Given the description of an element on the screen output the (x, y) to click on. 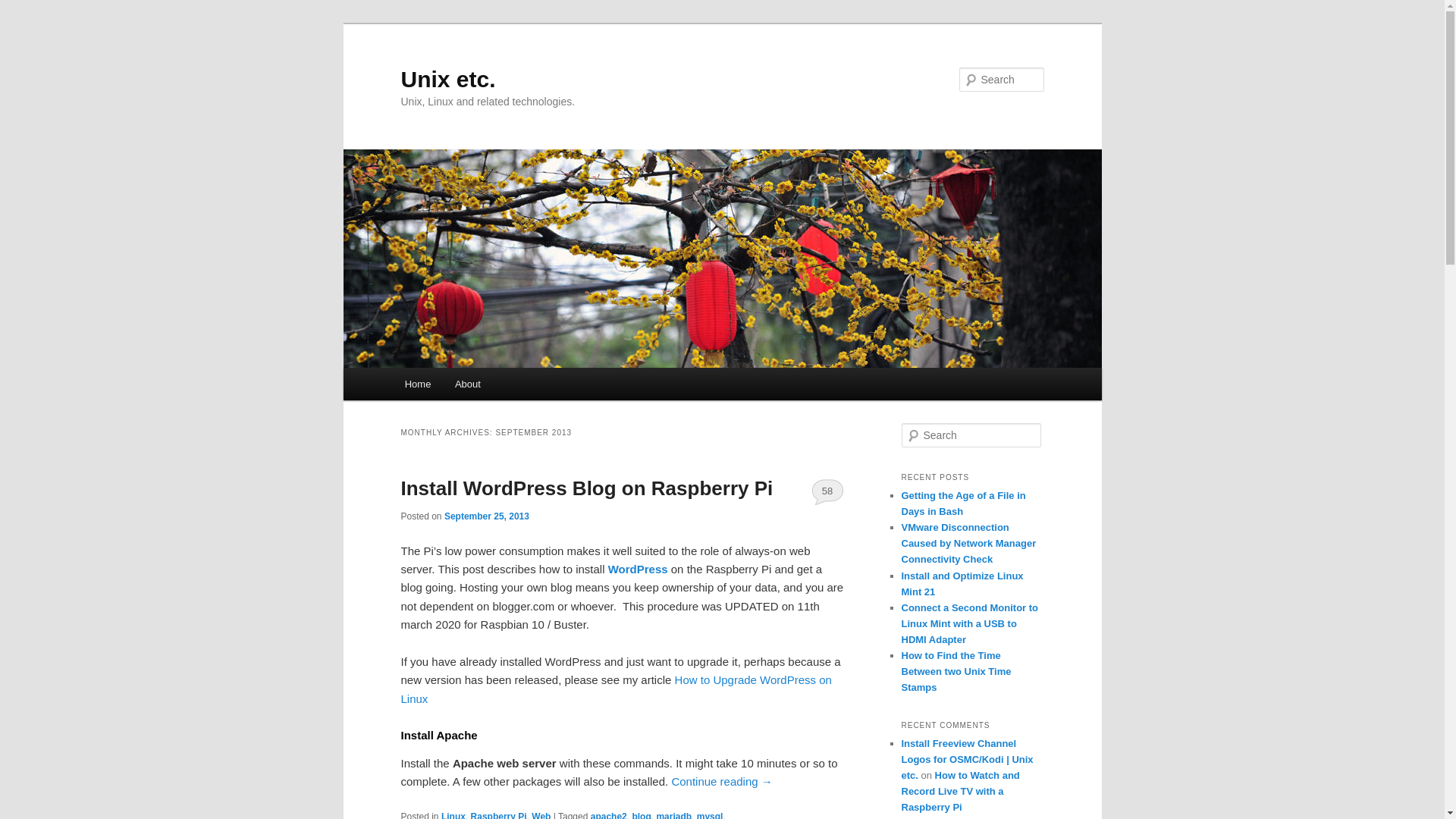
Install WordPress Blog on Raspberry Pi (586, 487)
Web (540, 815)
Linux (453, 815)
Unix etc. (447, 78)
58 (827, 491)
Raspberry Pi (498, 815)
mariadb (673, 815)
blog (640, 815)
How to Upgrade WordPress on Linux (615, 688)
September 25, 2013 (486, 516)
Search (24, 8)
WordPress (638, 568)
apache2 (609, 815)
8:52 pm (486, 516)
